Given the description of an element on the screen output the (x, y) to click on. 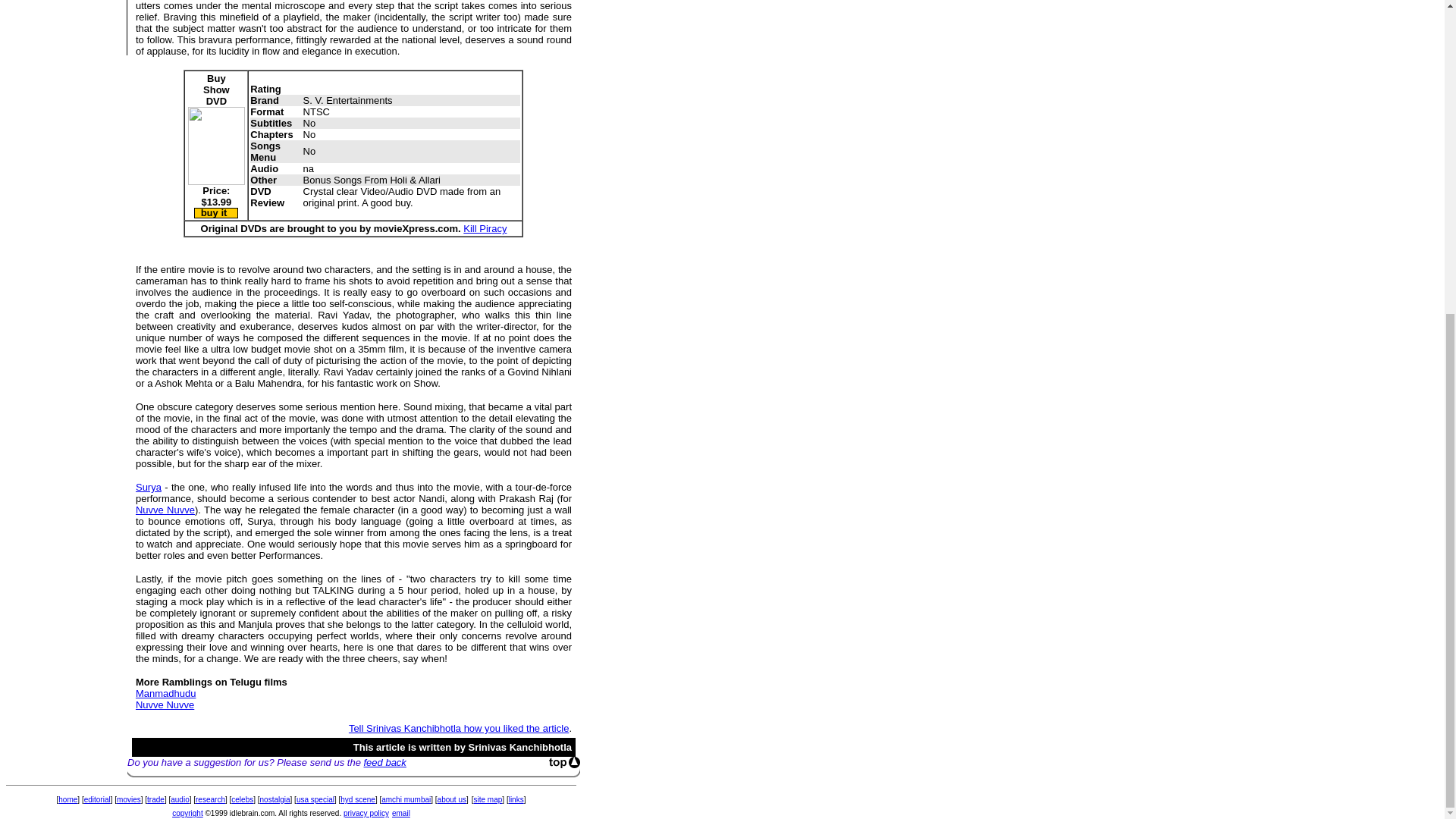
audio (179, 799)
celebs (242, 799)
home (67, 799)
usa special (315, 799)
Nuvve Nuvve (164, 704)
nostalgia (274, 799)
site map (488, 799)
research (210, 799)
Kill Piracy (484, 228)
about us (451, 799)
